Given the description of an element on the screen output the (x, y) to click on. 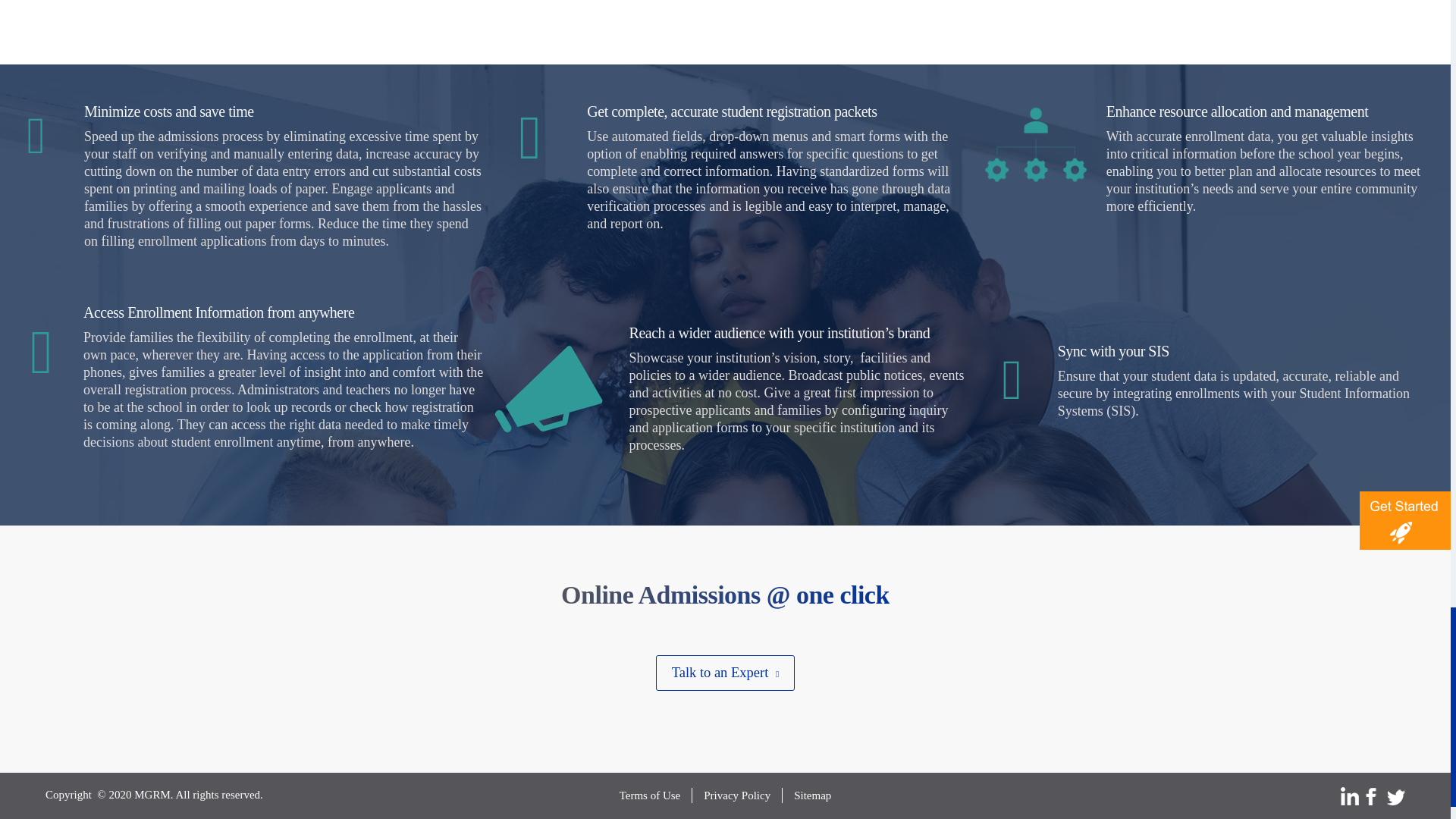
Talk to an Expert (725, 673)
